Given the description of an element on the screen output the (x, y) to click on. 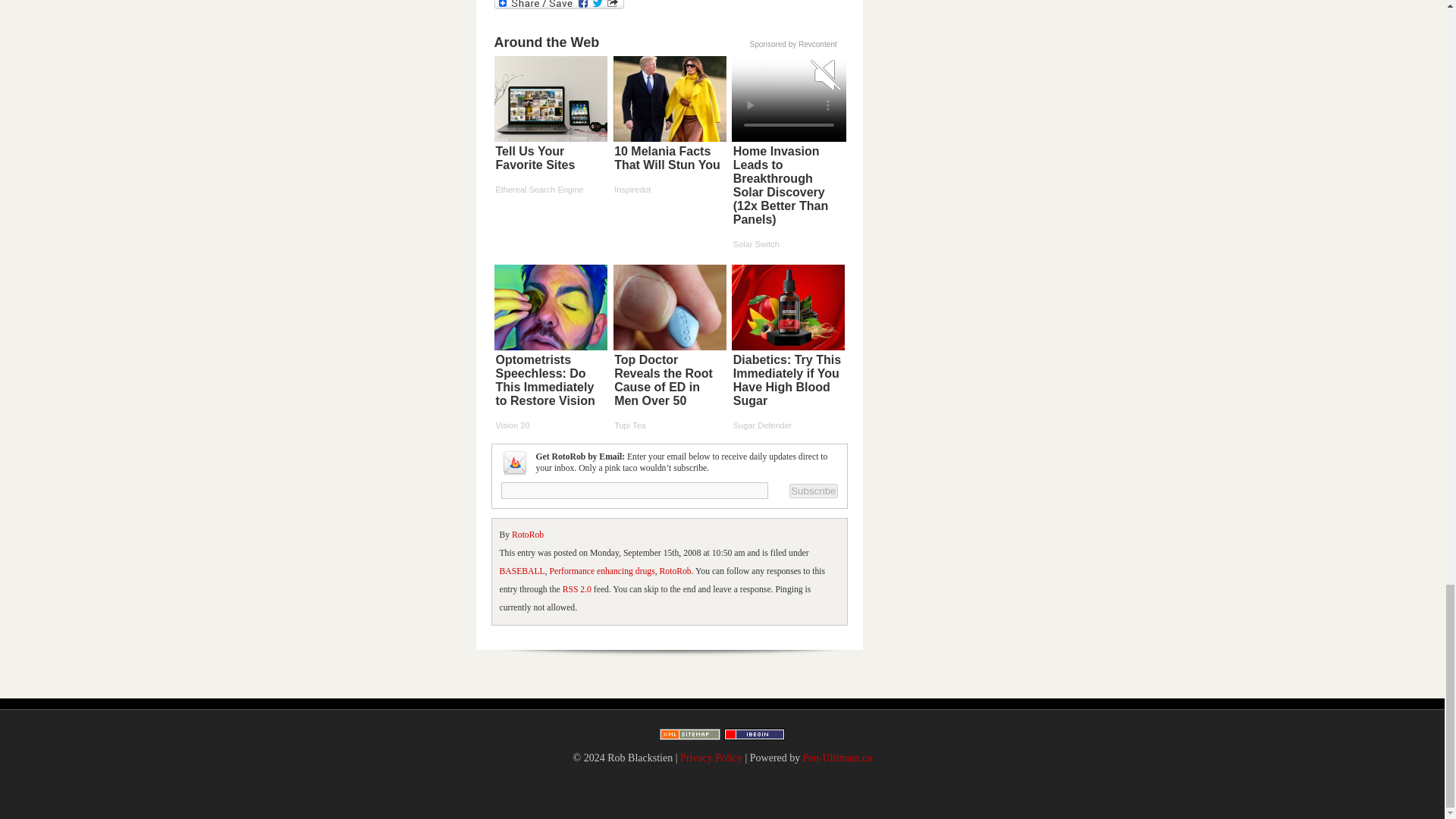
Subscribe (813, 490)
RotoRob (527, 534)
Performance enhancing drugs (602, 571)
RSS 2.0 (576, 589)
Subscribe (813, 490)
View all posts by RotoRob (527, 534)
RotoRob (675, 571)
BASEBALL (521, 571)
